Given the description of an element on the screen output the (x, y) to click on. 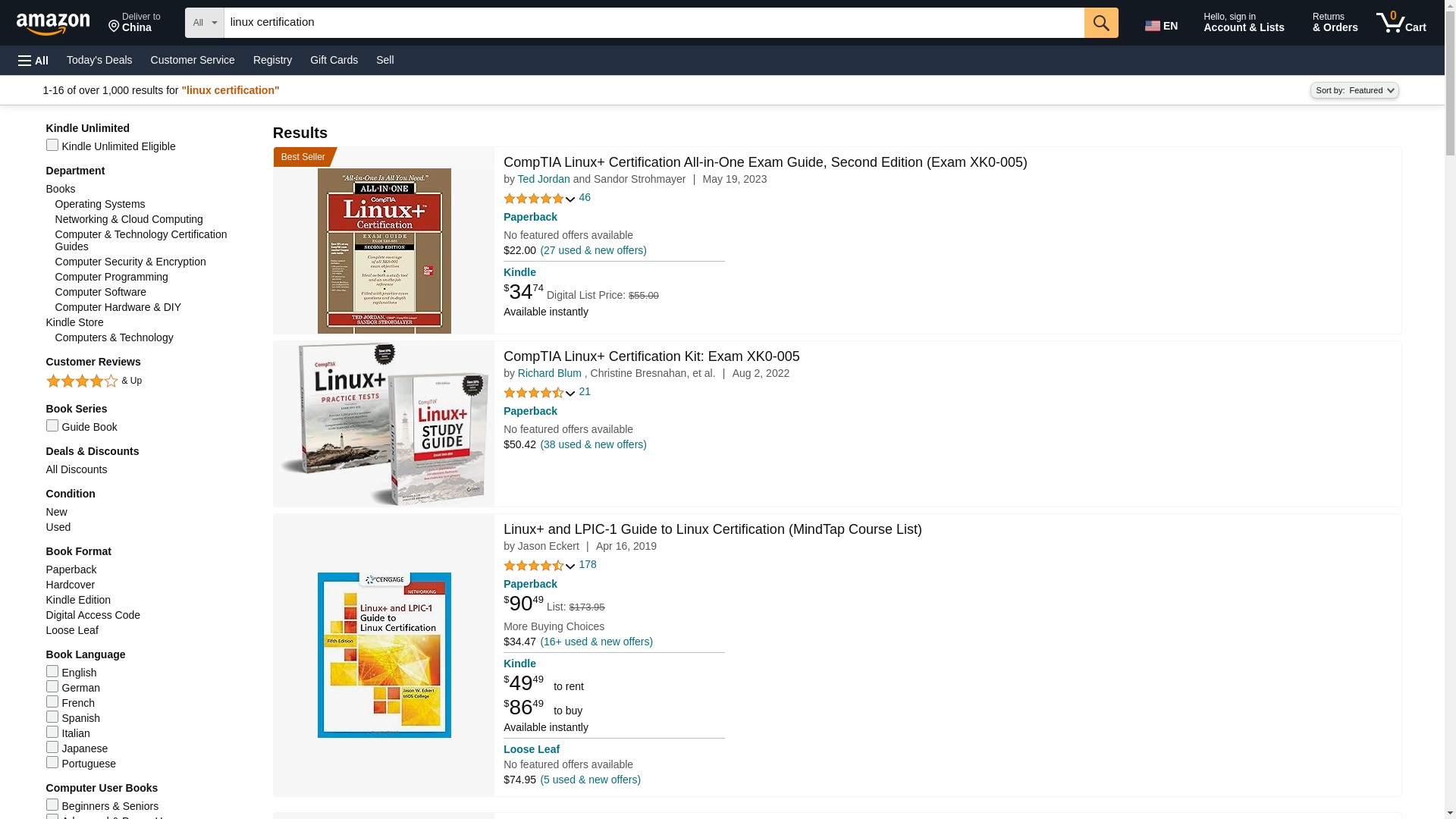
Go (1101, 22)
Paperback (530, 216)
Richard Blum (549, 372)
46 (585, 197)
linux certification (654, 22)
Registry (1401, 22)
Ted Jordan (272, 59)
178 (544, 178)
All (587, 564)
Paperback (33, 60)
Go (530, 410)
Sell (134, 22)
21 (1101, 22)
